Given the description of an element on the screen output the (x, y) to click on. 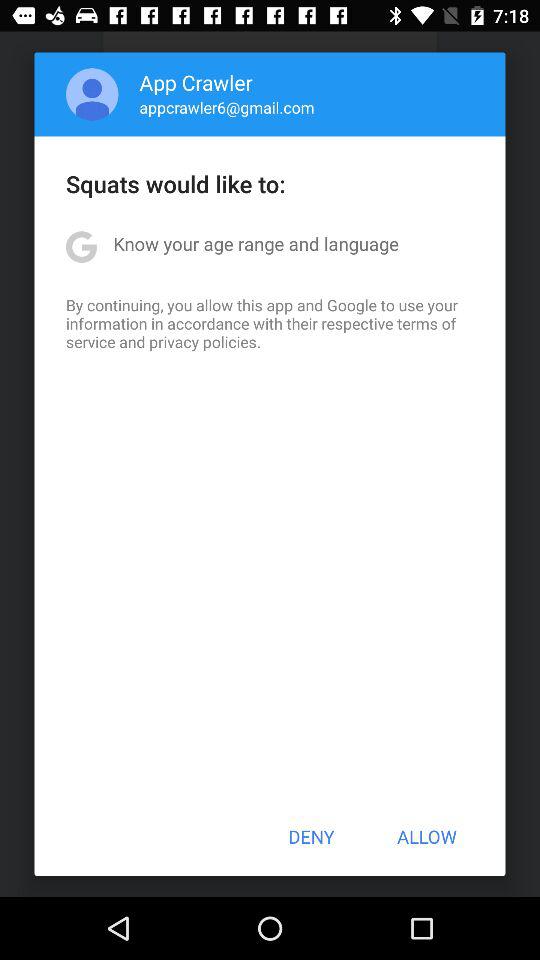
launch the appcrawler6@gmail.com item (226, 107)
